Given the description of an element on the screen output the (x, y) to click on. 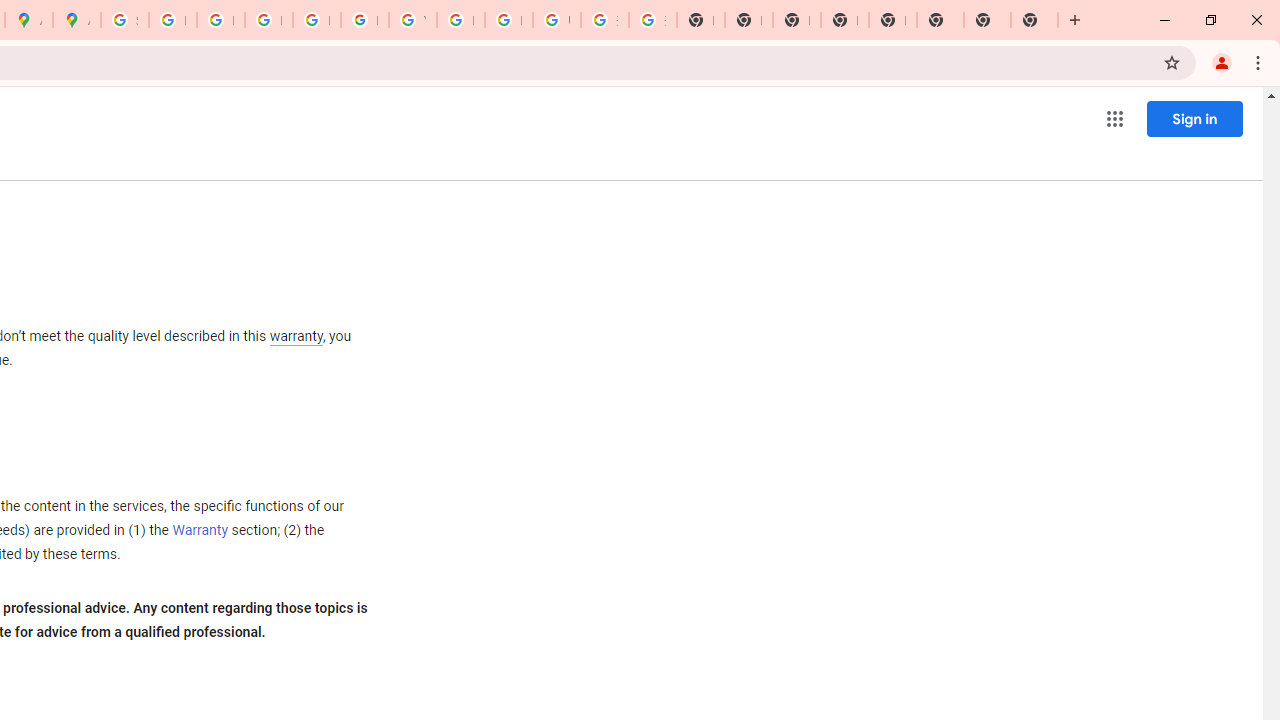
YouTube (412, 20)
Sign in - Google Accounts (124, 20)
Warranty (200, 531)
warranty (295, 337)
